Given the description of an element on the screen output the (x, y) to click on. 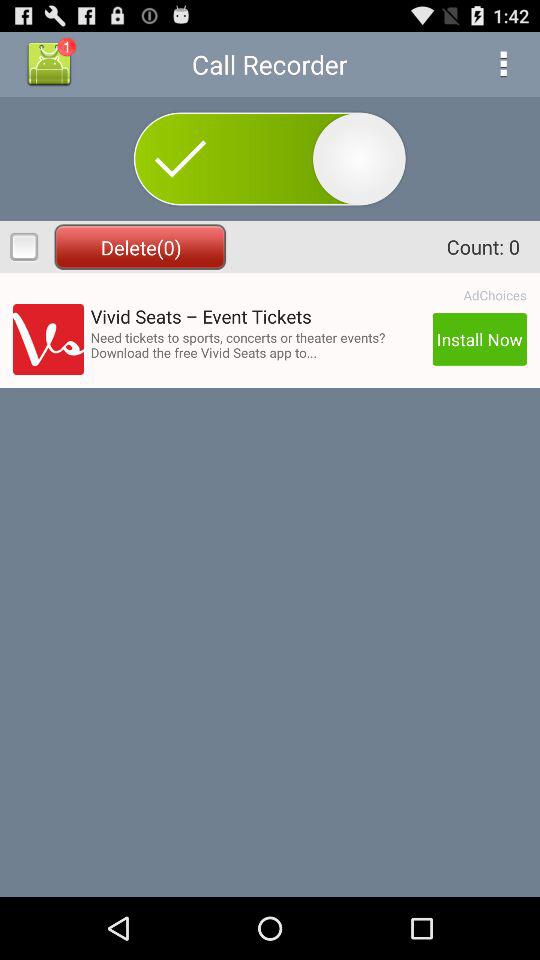
choose the app next to the need tickets to app (479, 339)
